Given the description of an element on the screen output the (x, y) to click on. 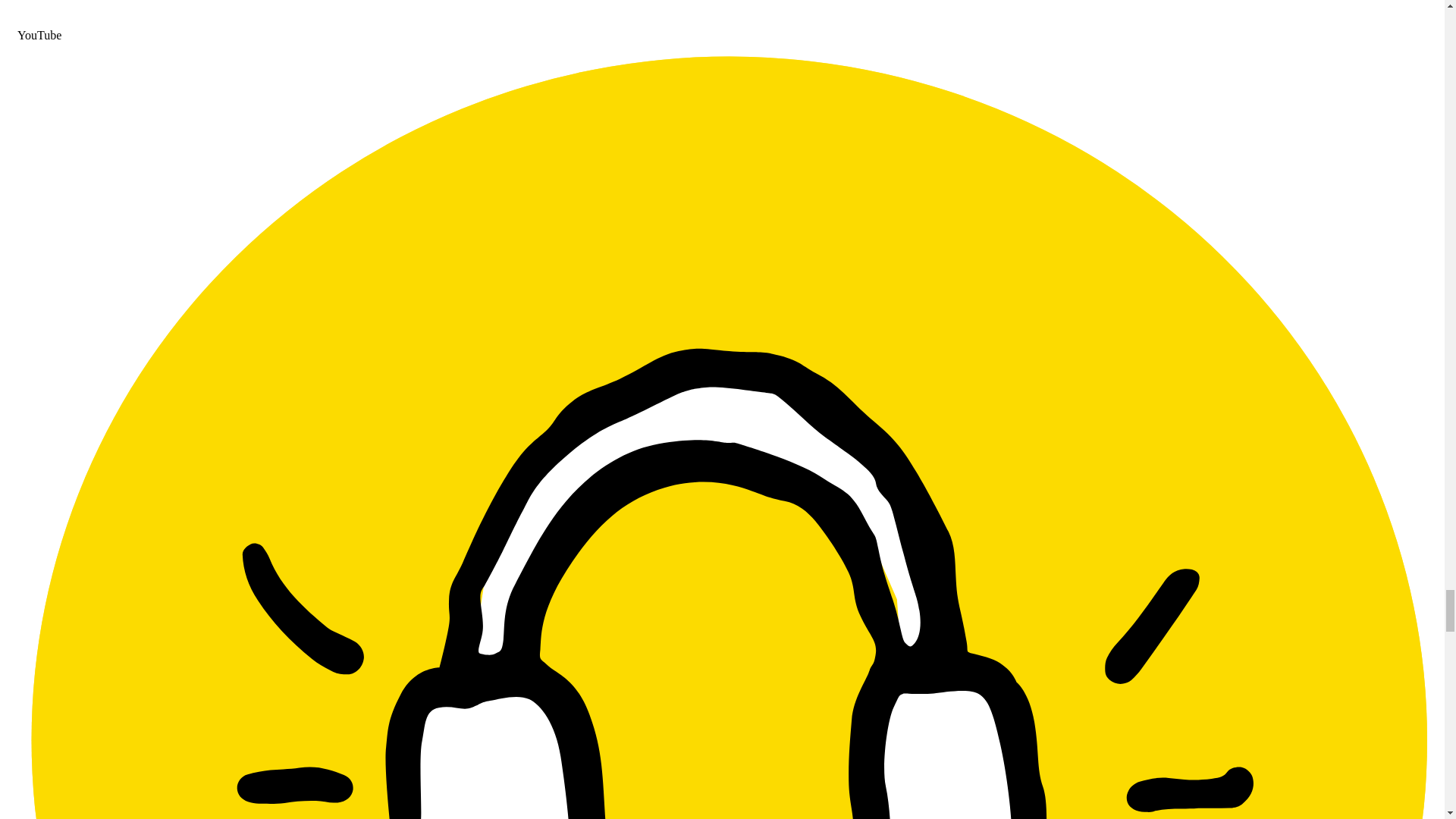
YouTube (721, 28)
